Given the description of an element on the screen output the (x, y) to click on. 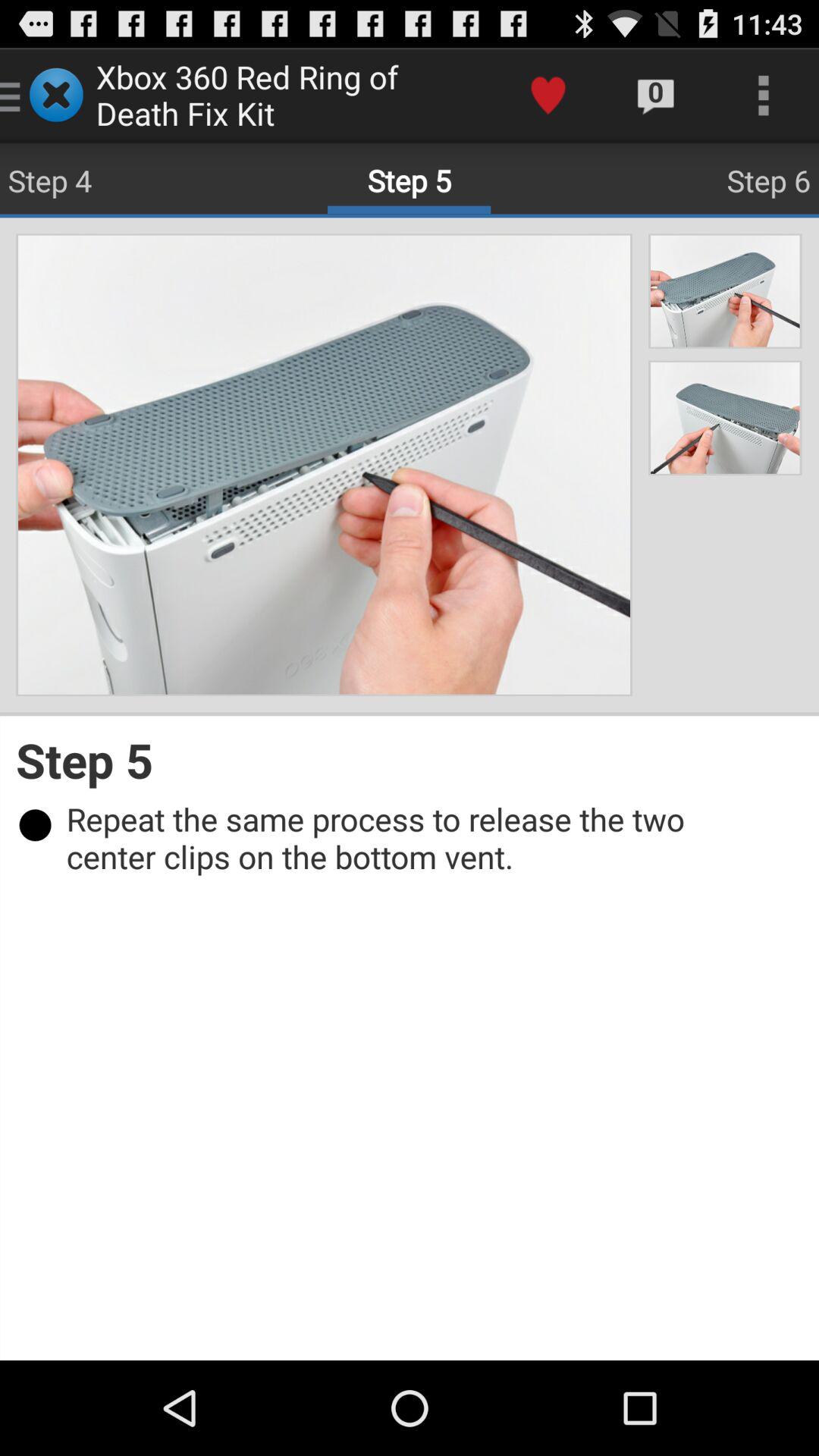
open the step 5 icon (409, 759)
